Given the description of an element on the screen output the (x, y) to click on. 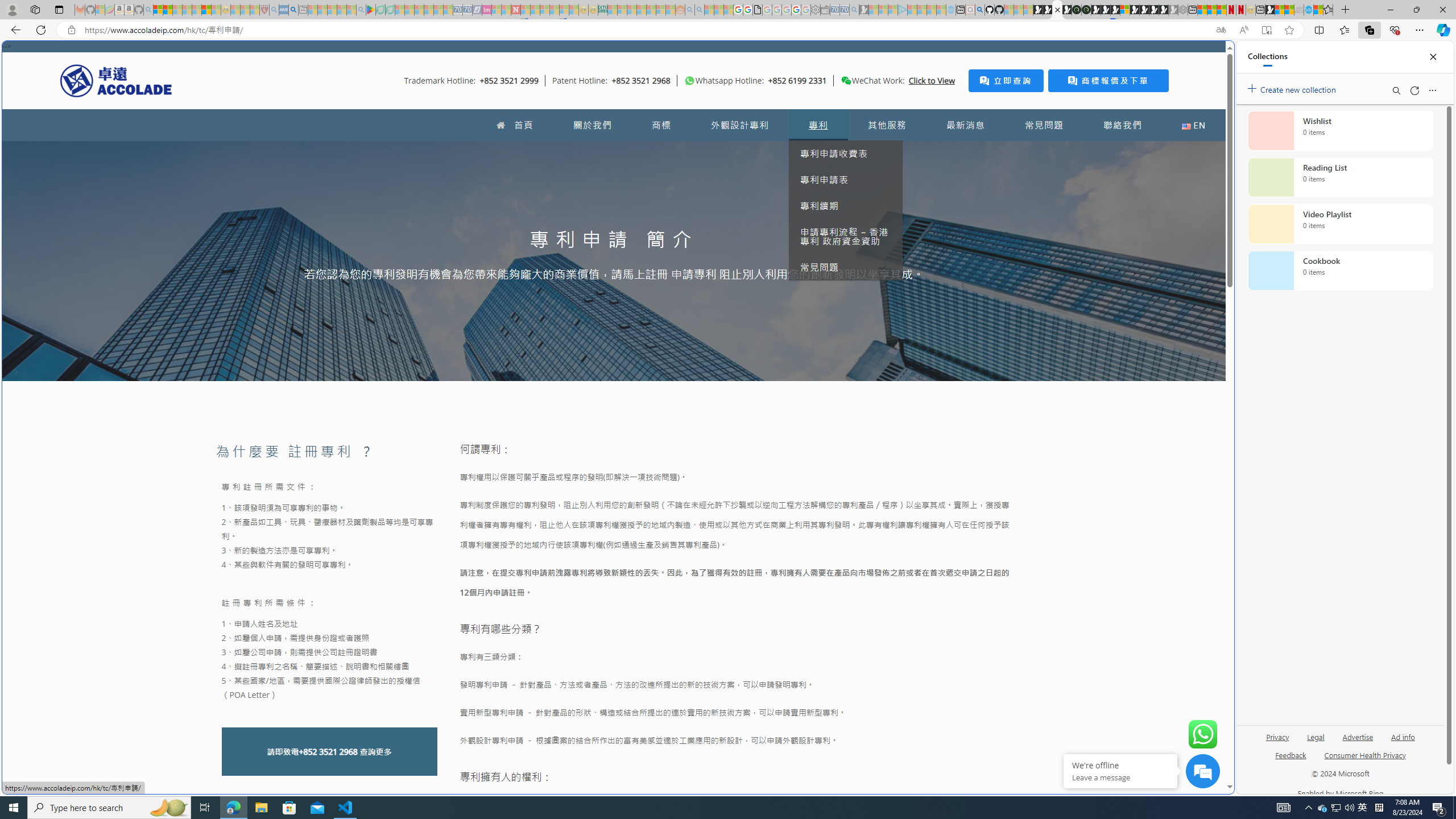
Class: desktop (845, 80)
github - Search (979, 9)
